Given the description of an element on the screen output the (x, y) to click on. 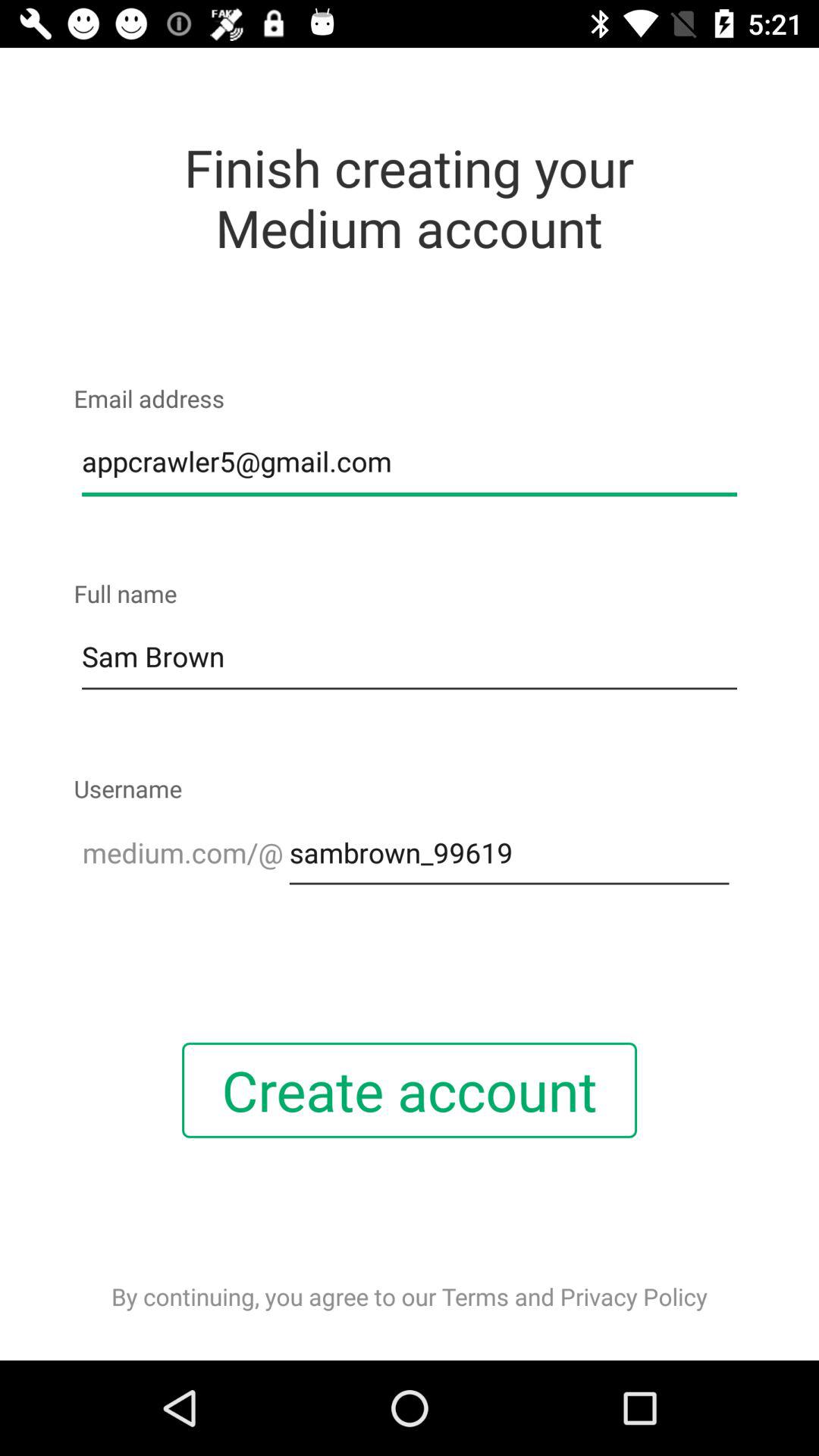
tap appcrawler5@gmail.com (409, 462)
